Given the description of an element on the screen output the (x, y) to click on. 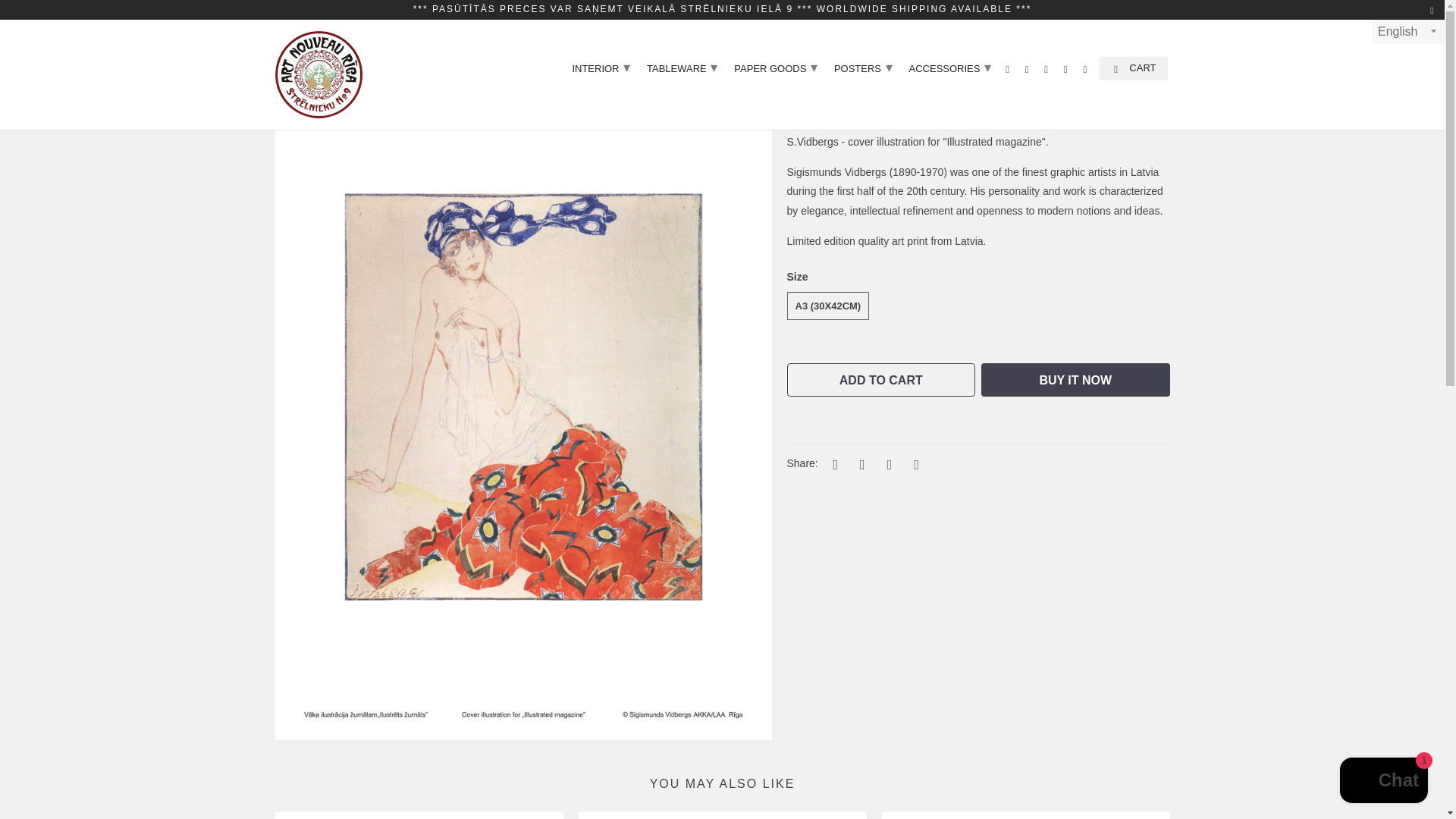
Art Nouveau Riga (318, 74)
Share this on Twitter (833, 463)
Email this to a friend (914, 463)
Art Nouveau Riga (288, 24)
Share this on Pinterest (887, 463)
Products (339, 24)
Share this on Facebook (859, 463)
